Given the description of an element on the screen output the (x, y) to click on. 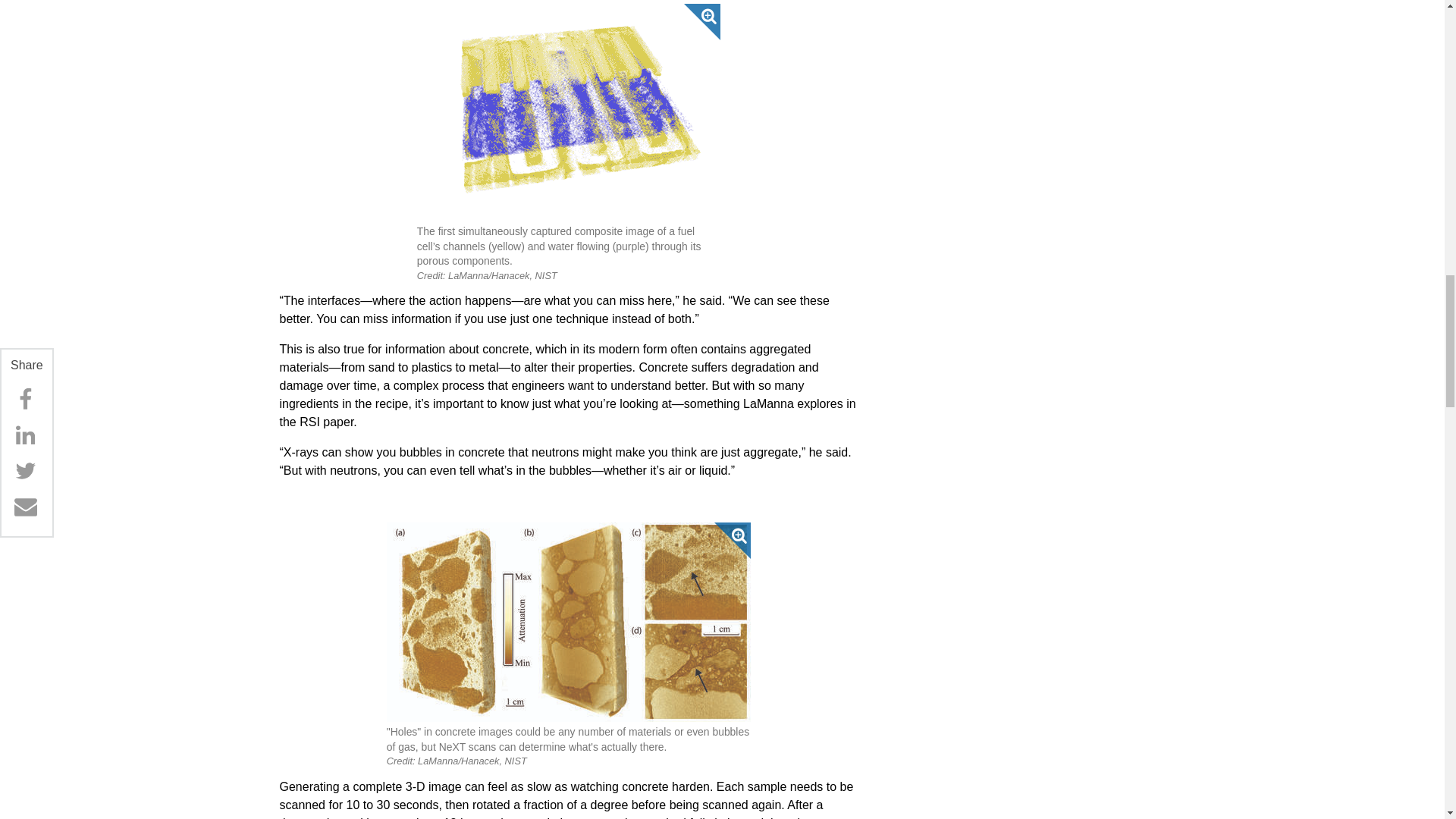
Neutron and X-ray Images of Concrete (569, 621)
Fuel Cell Channels (568, 112)
